Given the description of an element on the screen output the (x, y) to click on. 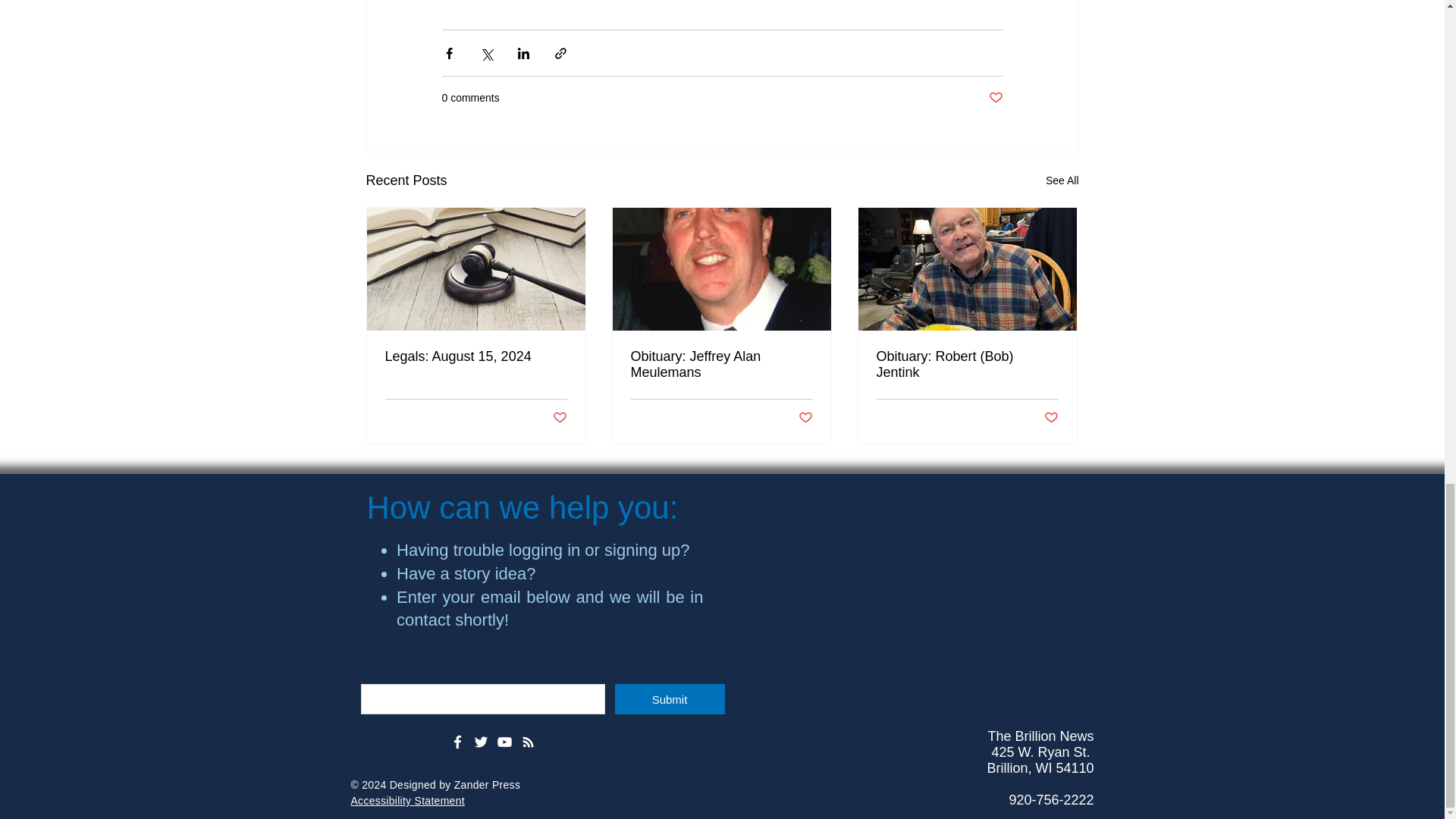
Obituary: Jeffrey Alan Meulemans (721, 364)
Post not marked as liked (995, 98)
Post not marked as liked (558, 417)
See All (1061, 180)
Legals: August 15, 2024 (476, 356)
